Given the description of an element on the screen output the (x, y) to click on. 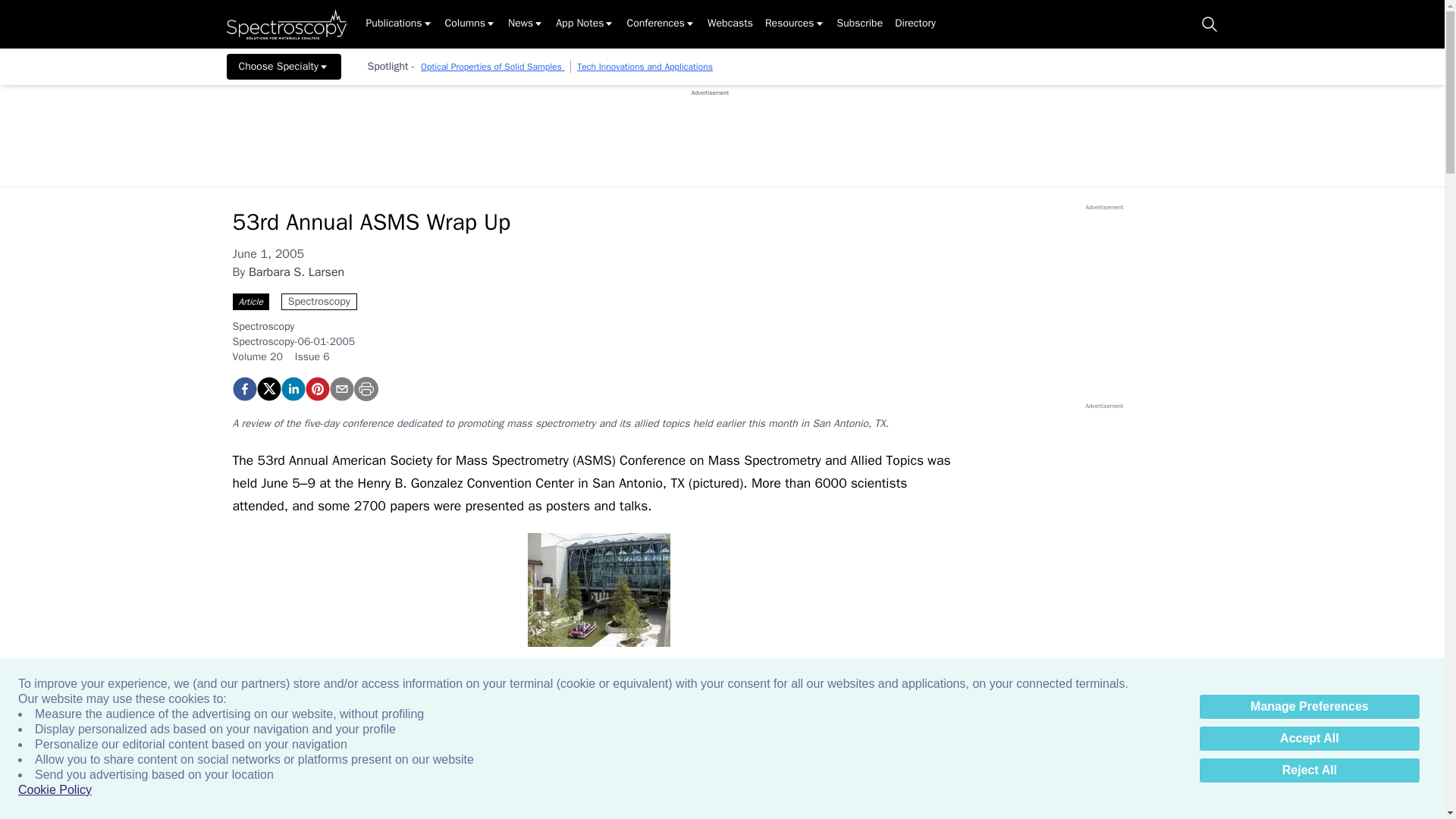
News (525, 23)
Publications (398, 23)
Manage Preferences (1309, 706)
53rd Annual ASMS Wrap Up (316, 388)
53rd Annual ASMS Wrap Up (243, 388)
Reject All (1309, 769)
Conferences (660, 23)
App Notes (585, 23)
3rd party ad content (709, 131)
Cookie Policy (54, 789)
Columns (470, 23)
Accept All (1309, 738)
